Given the description of an element on the screen output the (x, y) to click on. 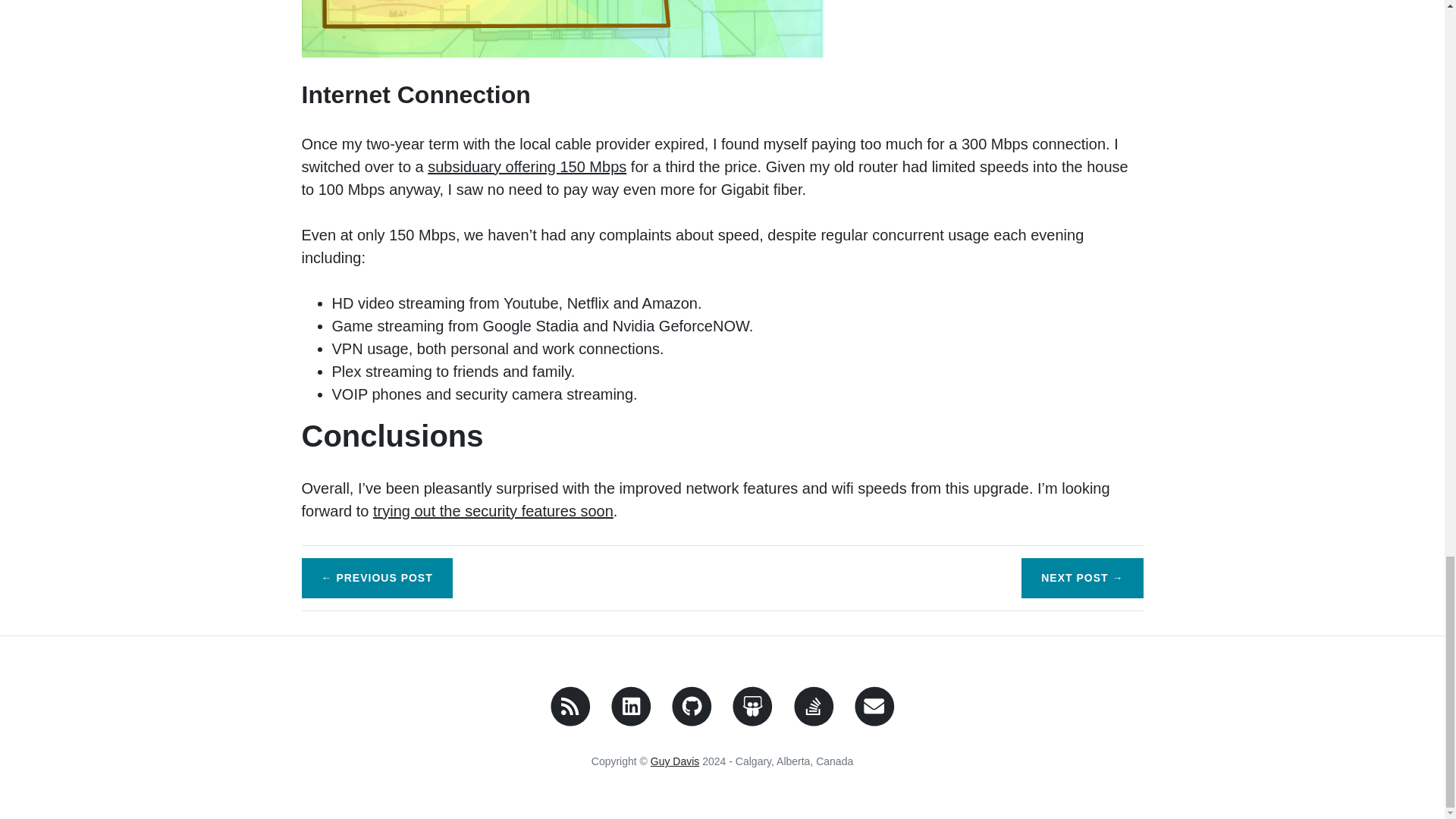
trying out the security features soon (492, 510)
SlideShare (751, 719)
GitHub (691, 719)
RSS Feed (569, 719)
LinkedIn (630, 719)
About (675, 761)
subsiduary offering 150 Mbps (527, 166)
StackOverflow (814, 719)
Guy Davis (675, 761)
